Given the description of an element on the screen output the (x, y) to click on. 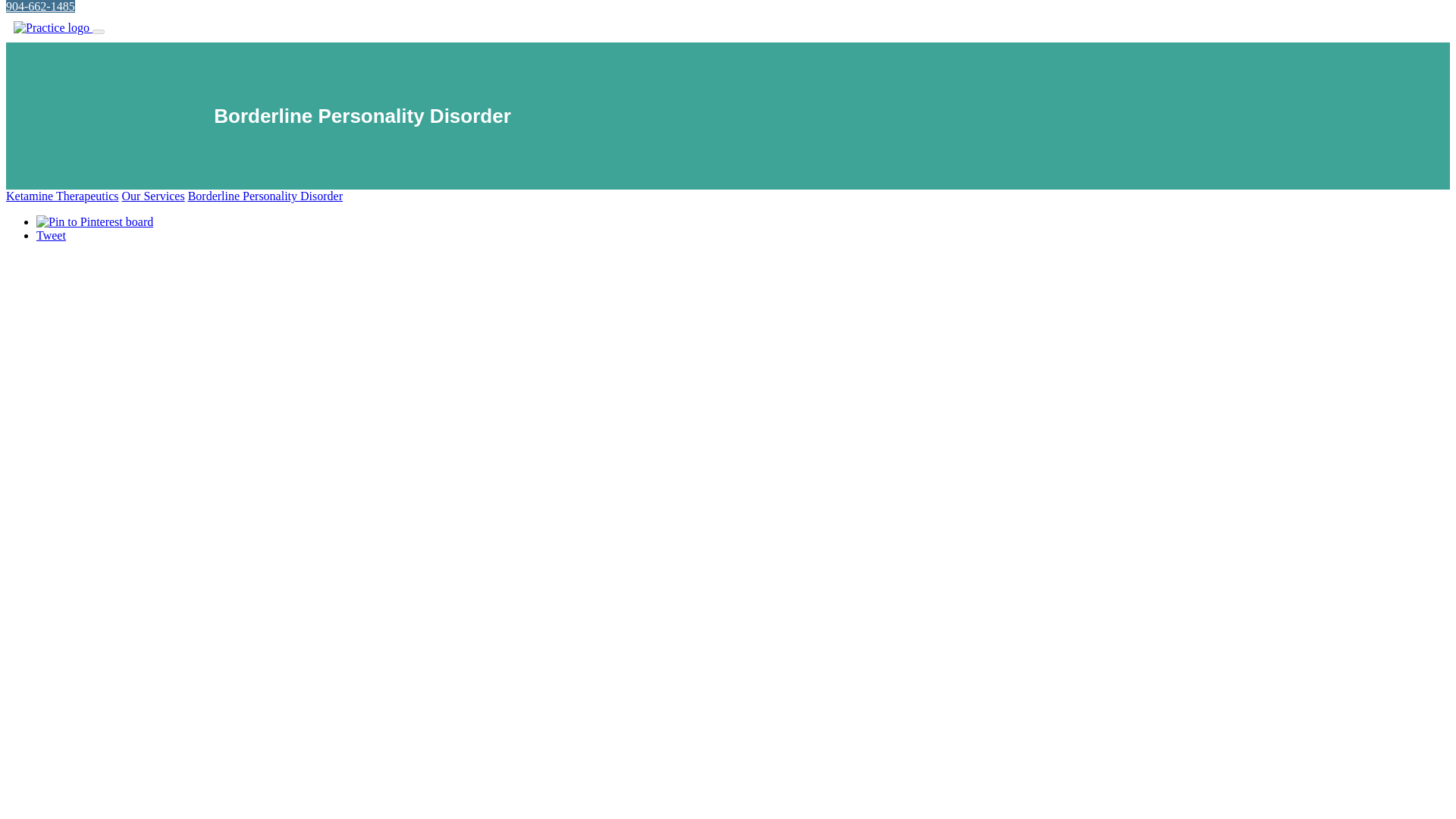
Borderline Personality Disorder (264, 195)
Our Services (153, 195)
904-662-1485 (40, 6)
Ketamine Therapeutics (62, 195)
Tweet (50, 235)
